Given the description of an element on the screen output the (x, y) to click on. 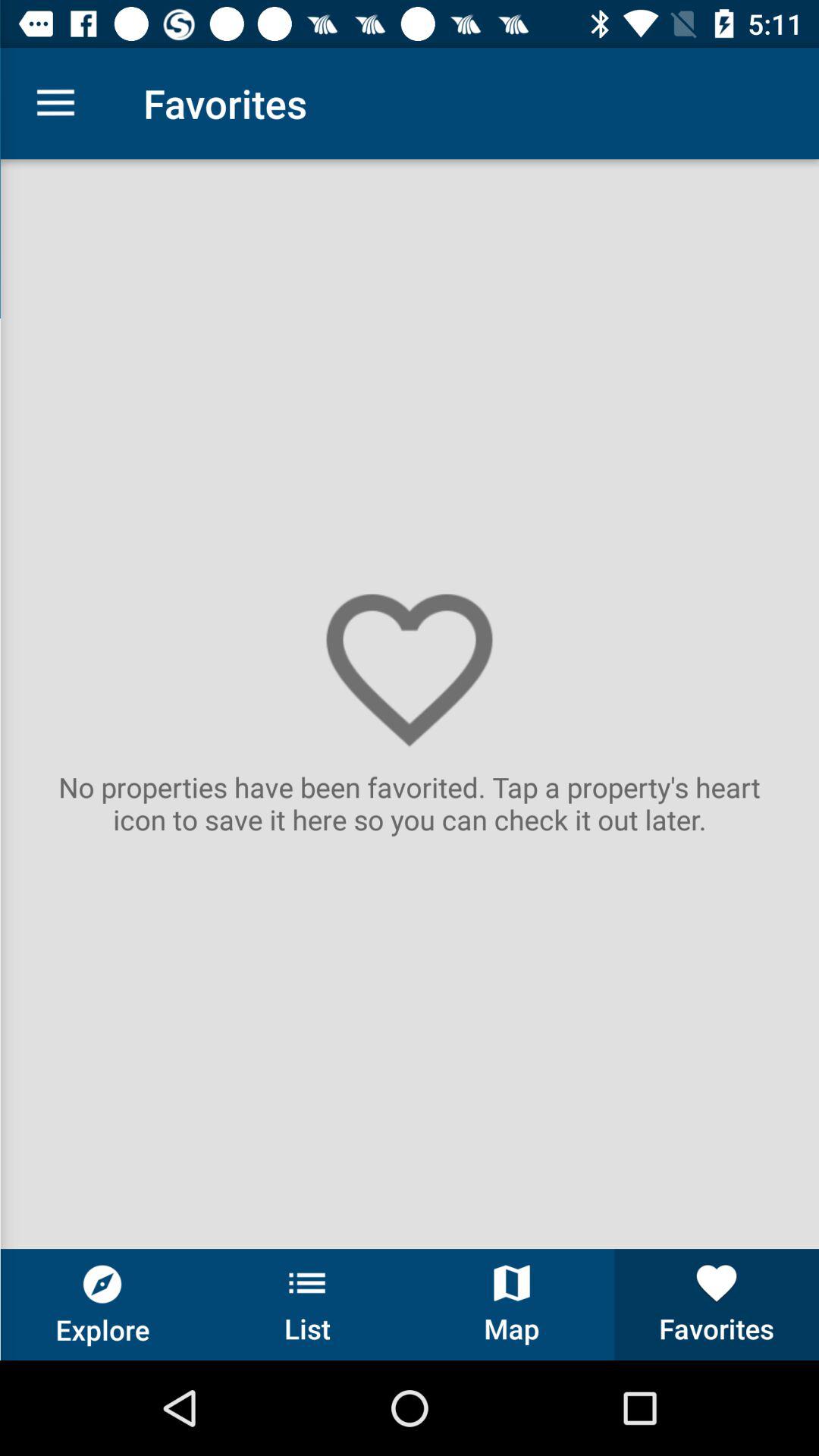
scroll to the map icon (511, 1304)
